Given the description of an element on the screen output the (x, y) to click on. 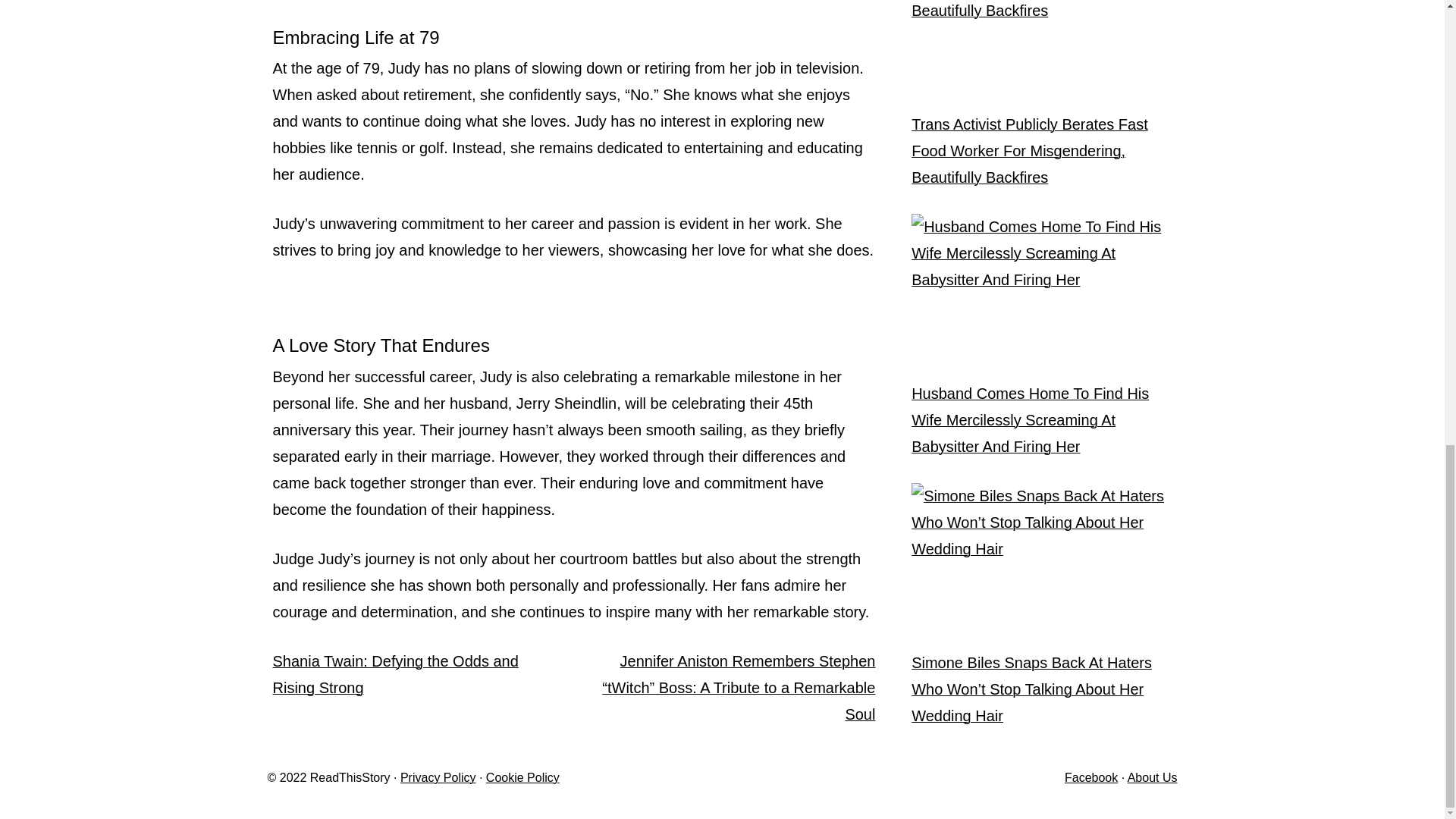
Shania Twain: Defying the Odds and Rising Strong (395, 674)
Facebook (1091, 777)
Cookie Policy (522, 777)
Privacy Policy (438, 777)
About Us (1151, 777)
